Given the description of an element on the screen output the (x, y) to click on. 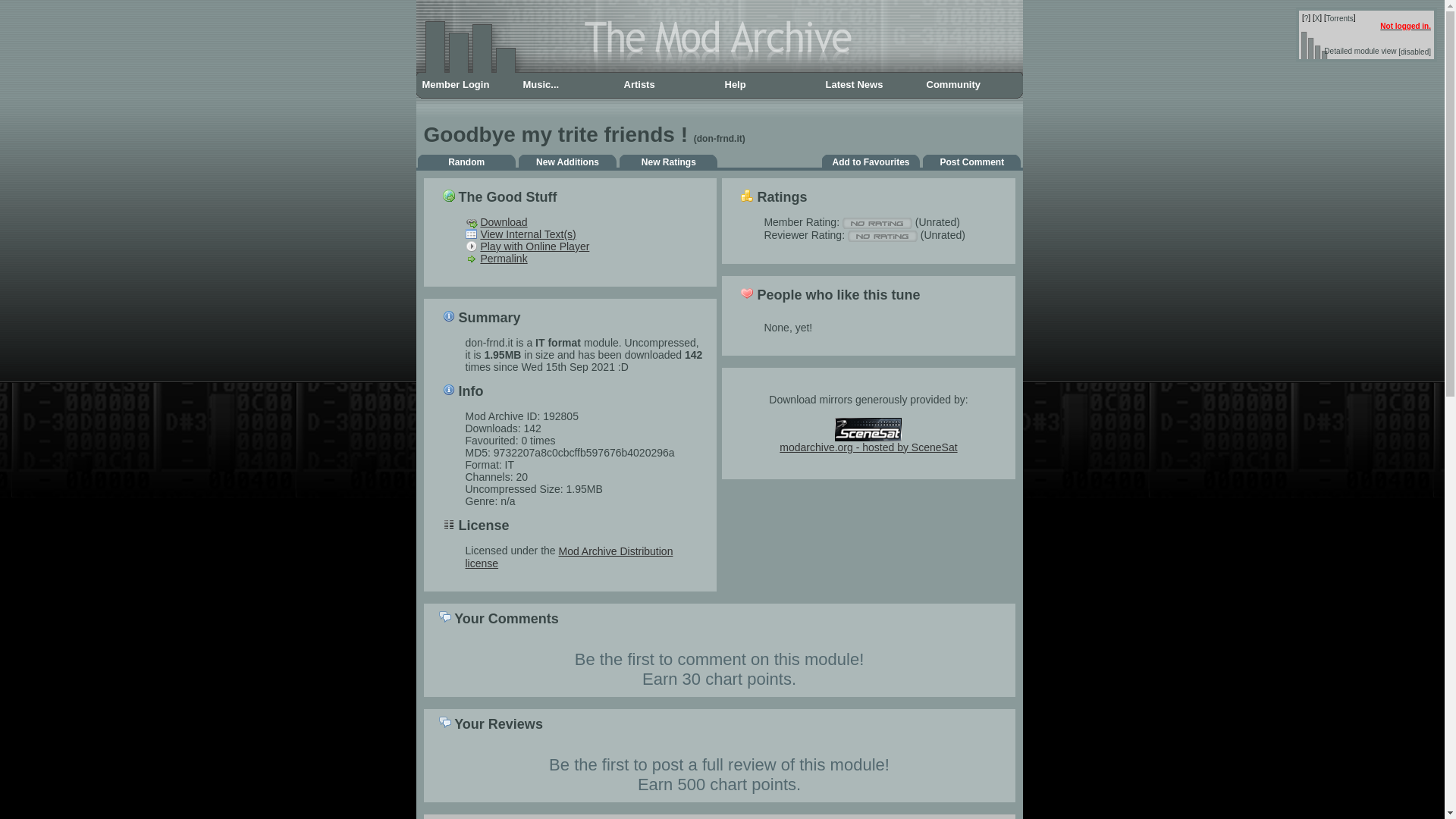
Torrents (1340, 18)
The Mod Archive Website, Since 1996 (718, 71)
Artists (667, 84)
Play (534, 246)
Not logged in. (1405, 26)
Modarchive Torrents (1340, 18)
Member Login (465, 84)
Help (769, 84)
Play (471, 246)
Music... (566, 84)
